Given the description of an element on the screen output the (x, y) to click on. 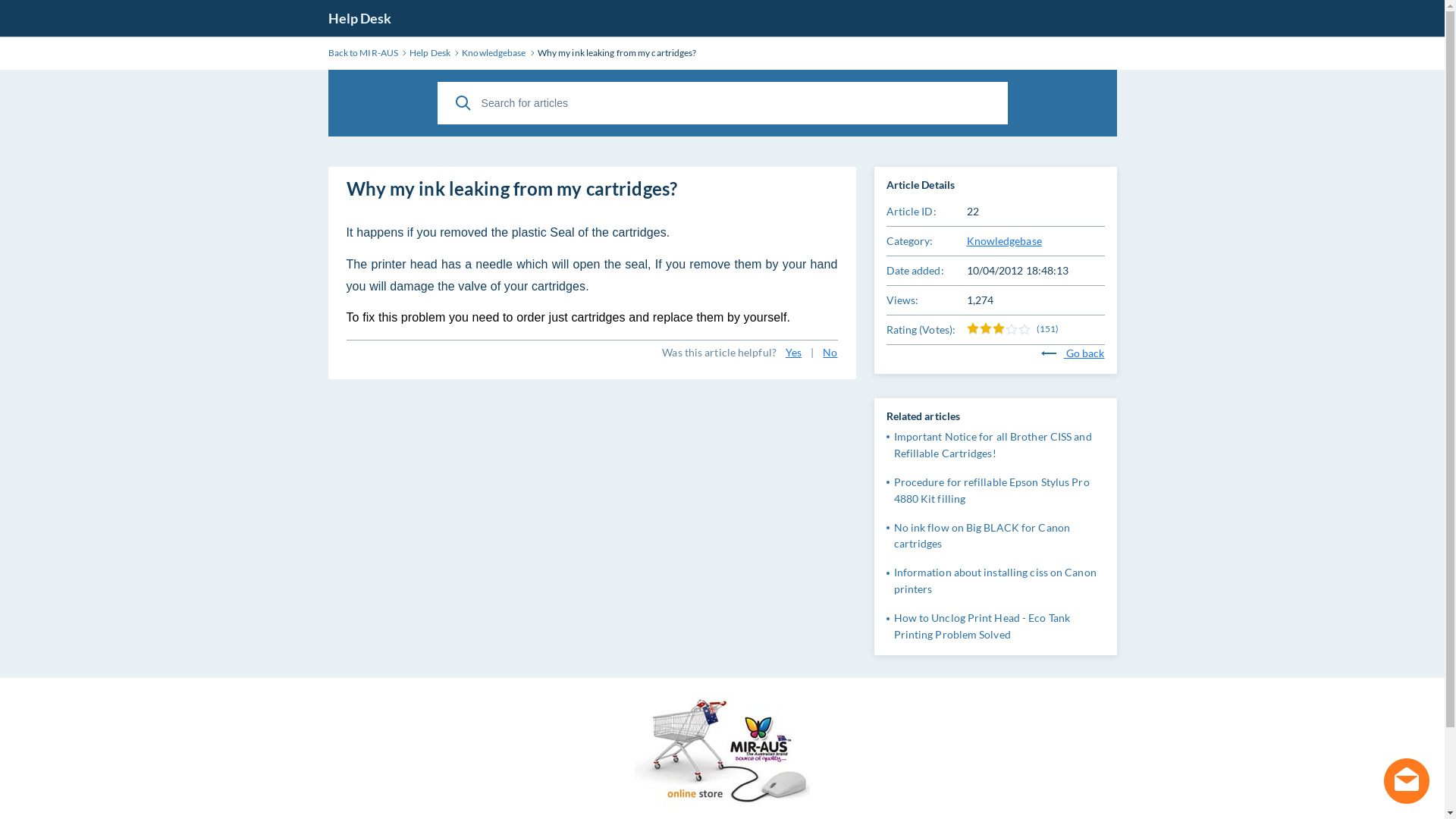
No ink flow on Big BLACK for Canon cartridges Element type: text (981, 535)
Help Desk Element type: text (429, 52)
Information about installing ciss on Canon printers Element type: text (994, 580)
Go back Element type: text (1072, 352)
Knowledgebase Element type: text (493, 52)
Procedure for refillable Epson Stylus Pro 4880 Kit filling Element type: text (990, 490)
MIR-AUS Ink system/ Online shopping Element type: hover (721, 805)
Help Desk Element type: text (359, 17)
Yes Element type: text (793, 352)
How to Unclog Print Head - Eco Tank Printing Problem Solved Element type: text (981, 625)
Back to MIR-AUS Element type: text (362, 52)
save up to 95% on printing cost Element type: hover (721, 753)
Knowledgebase Element type: text (1003, 240)
Live chat offline Element type: hover (1406, 780)
No Element type: text (829, 352)
